Given the description of an element on the screen output the (x, y) to click on. 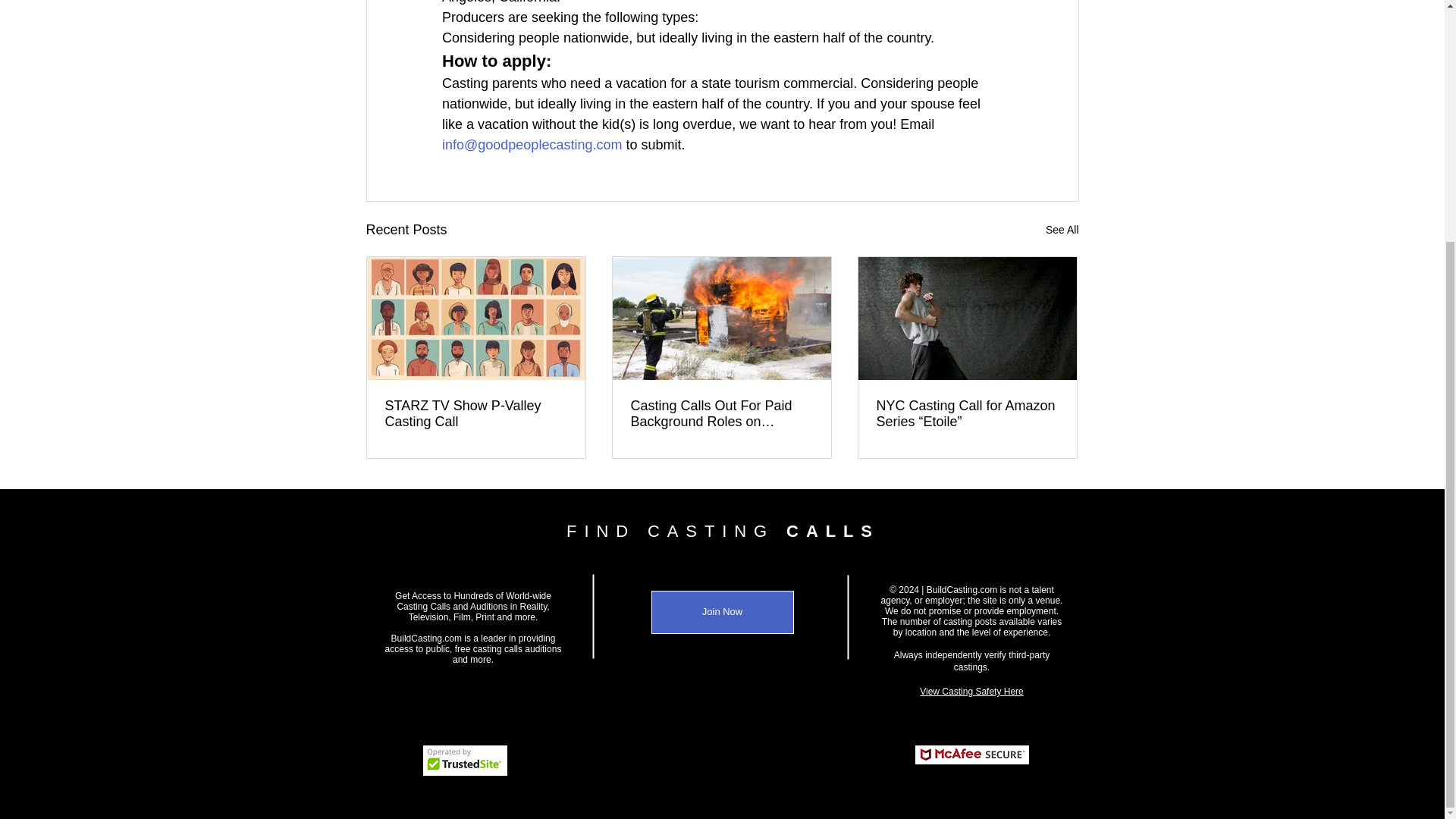
Join Now (721, 611)
 World-wide Casting Calls (473, 600)
See All (1061, 229)
STARZ TV Show P-Valley Casting Call (476, 413)
FIND CASTING CALLS (722, 530)
Casting Calls Out For Paid Background Roles on Chicago Fire (721, 413)
View Casting Safety Here (971, 690)
